Given the description of an element on the screen output the (x, y) to click on. 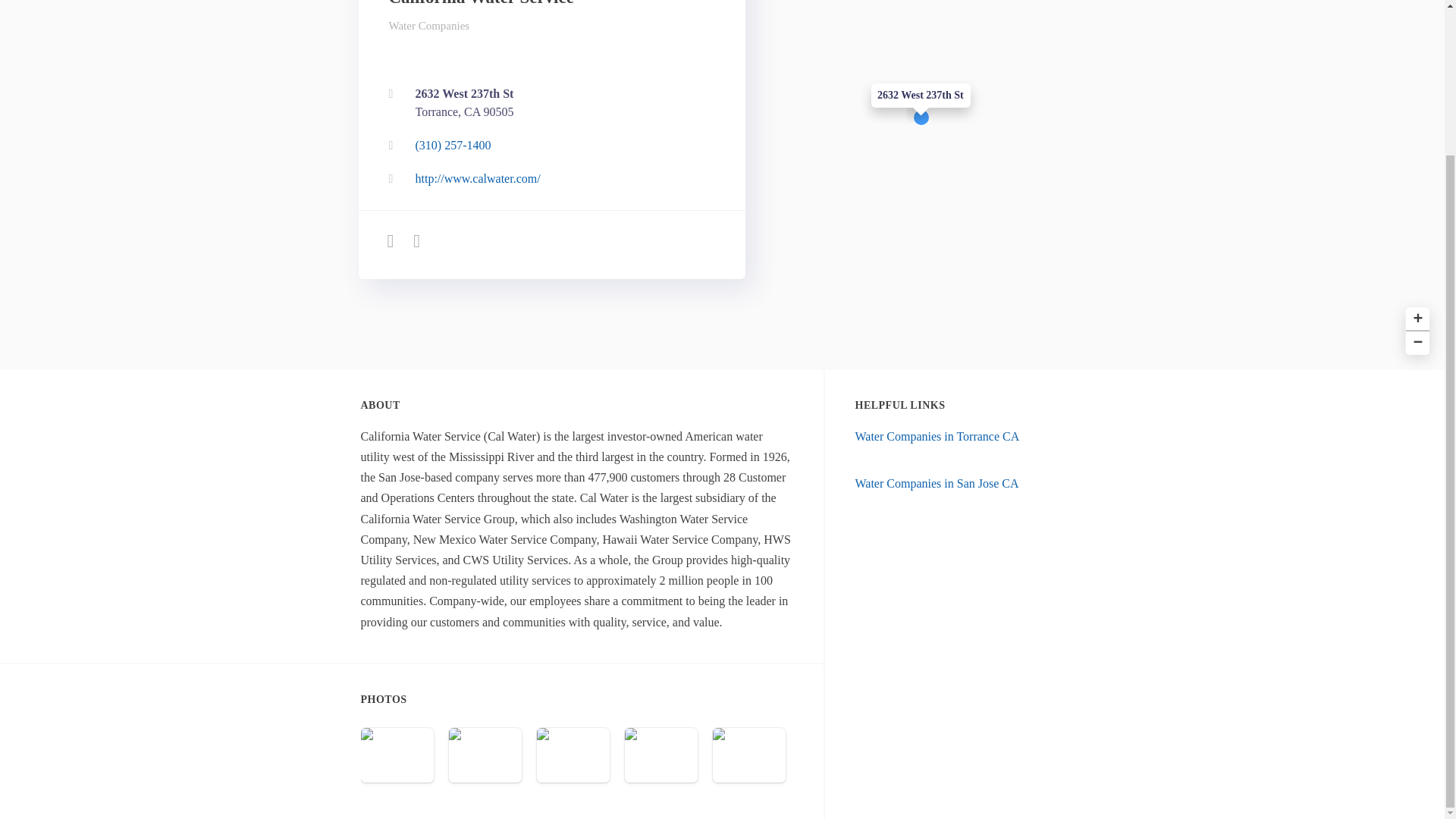
Get directions (547, 102)
Zoom in (1415, 316)
Open website in a new tab (547, 178)
Water Companies in Torrance CA (938, 436)
Water Companies (428, 25)
translation missing: en.photos (384, 699)
Zoom out (1415, 341)
Call Phone Number (547, 102)
Water Companies in San Jose CA (547, 145)
